Given the description of an element on the screen output the (x, y) to click on. 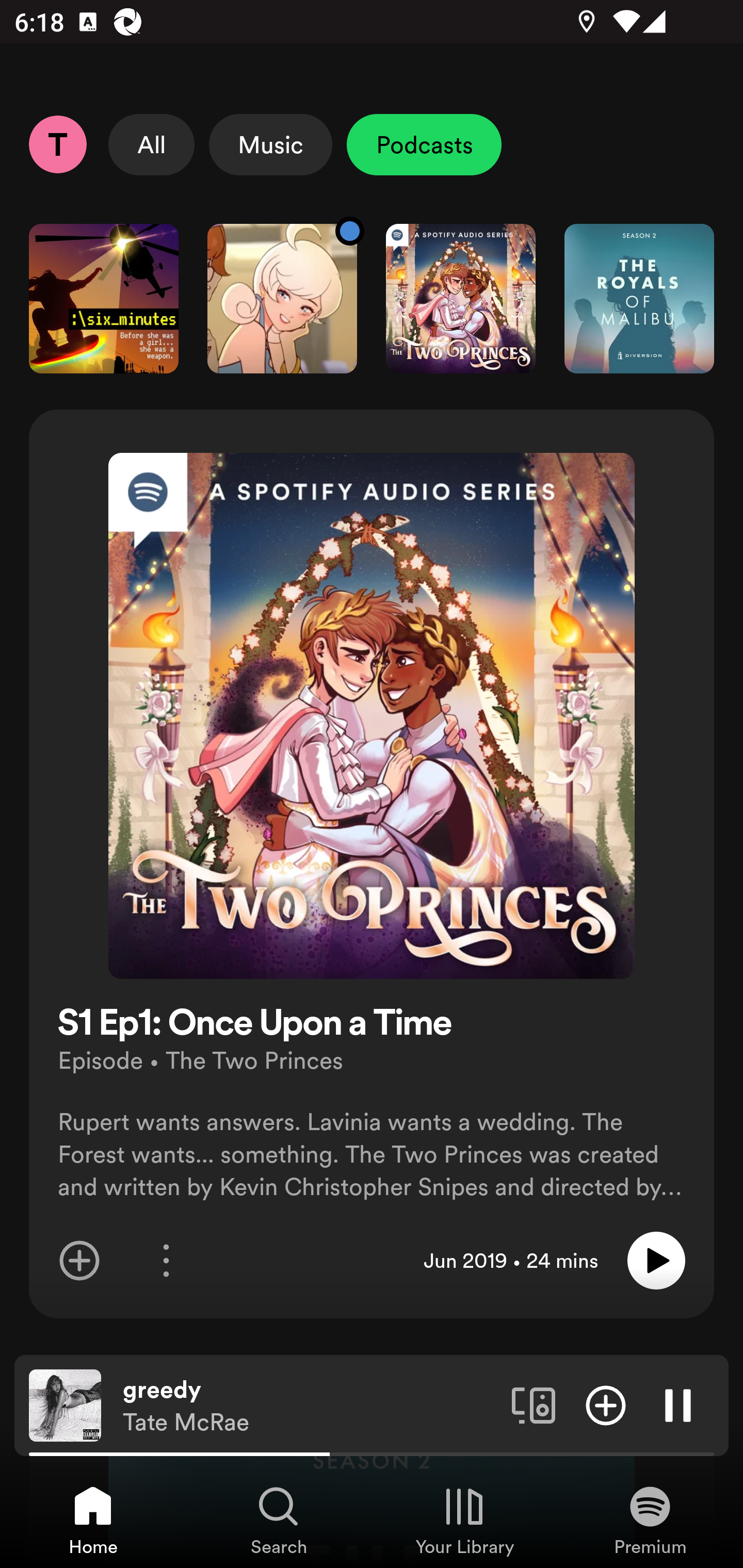
Profile (57, 144)
All Select All (151, 144)
Music Select Music (270, 144)
Podcasts Unselect Podcasts (423, 144)
Six Minutes (103, 298)
MSA  New content (281, 298)
The Two Princes (460, 298)
The Royals of Malibu (639, 298)
Add item (79, 1260)
Play (655, 1260)
greedy Tate McRae (309, 1405)
The cover art of the currently playing track (64, 1404)
Connect to a device. Opens the devices menu (533, 1404)
Add item (605, 1404)
Pause (677, 1404)
Home, Tab 1 of 4 Home Home (92, 1519)
Search, Tab 2 of 4 Search Search (278, 1519)
Your Library, Tab 3 of 4 Your Library Your Library (464, 1519)
Premium, Tab 4 of 4 Premium Premium (650, 1519)
